Given the description of an element on the screen output the (x, y) to click on. 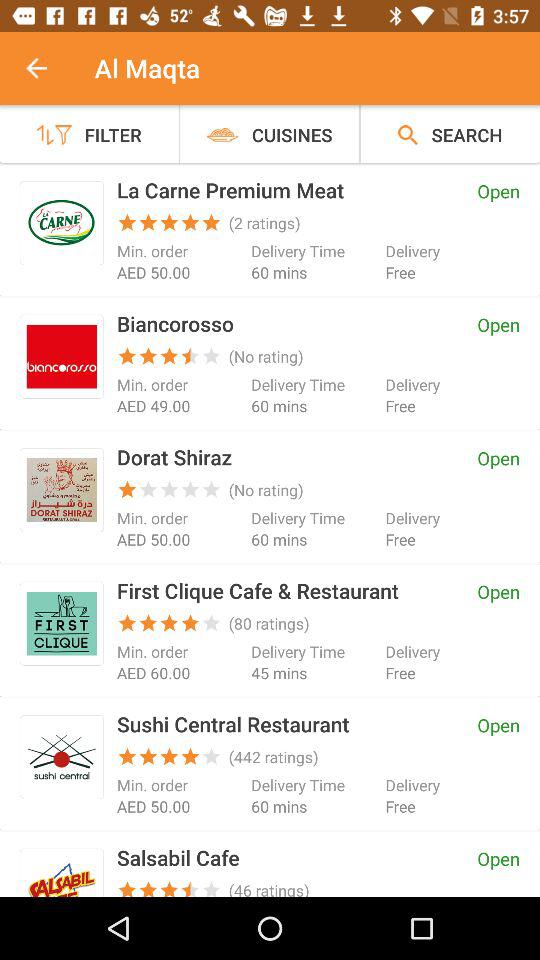
click the app icon (61, 222)
